Given the description of an element on the screen output the (x, y) to click on. 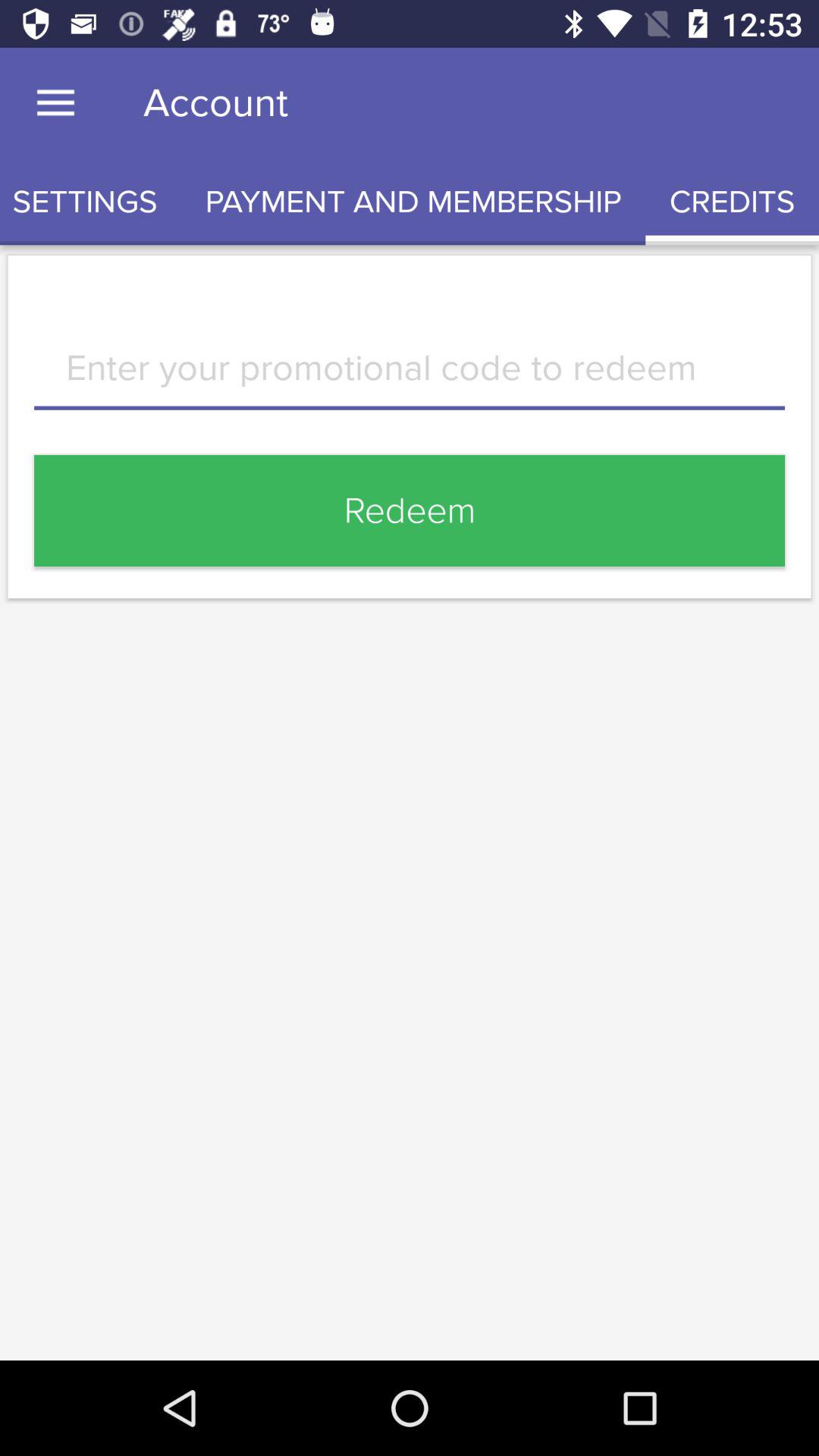
launch the item to the right of settings (413, 202)
